Given the description of an element on the screen output the (x, y) to click on. 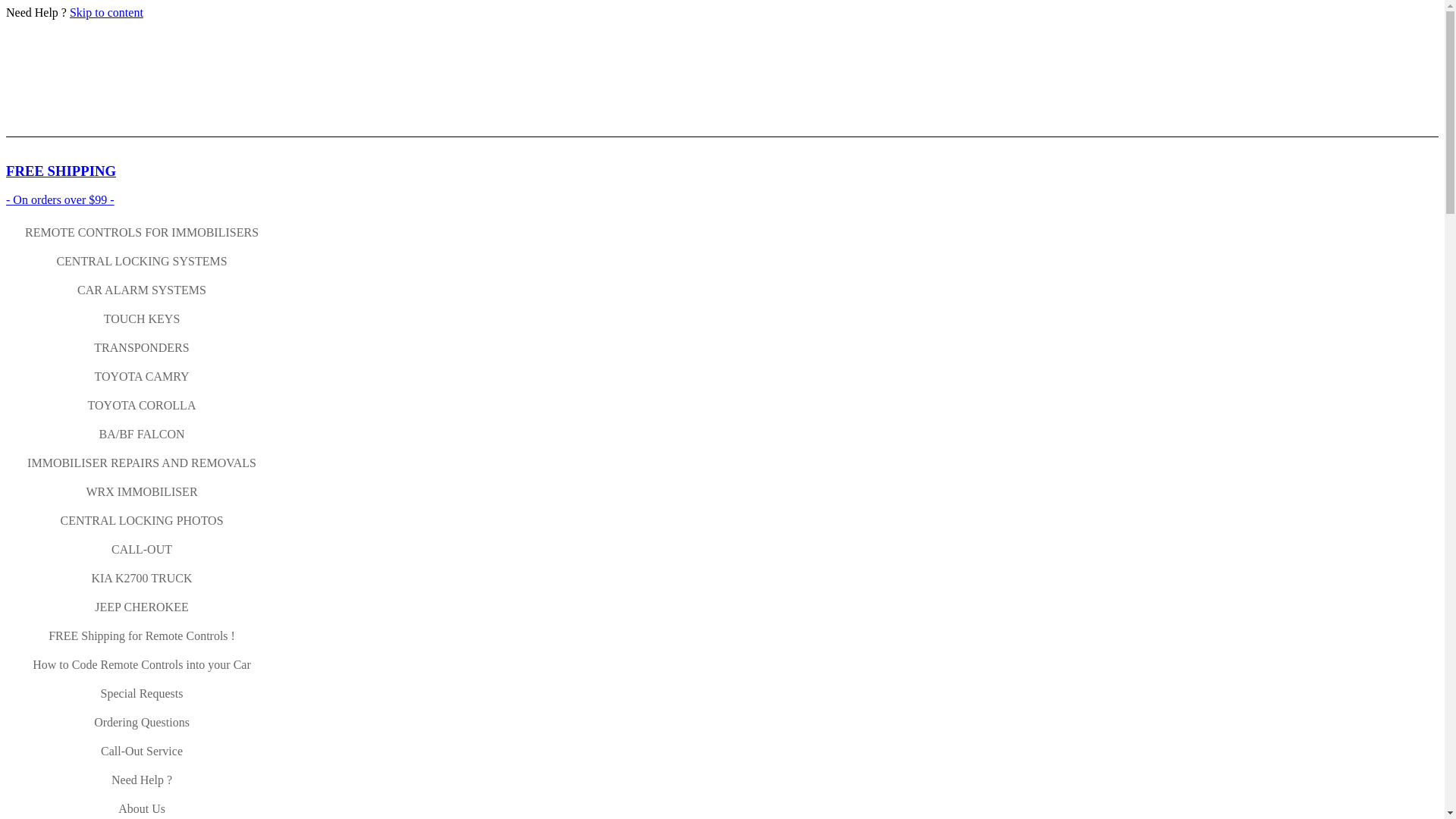
JEEP CHEROKEE Element type: text (141, 607)
TOUCH KEYS Element type: text (141, 318)
Call-Out Service Element type: text (141, 751)
TRANSPONDERS Element type: text (141, 347)
REMOTE CONTROLS FOR IMMOBILISERS Element type: text (141, 232)
BA/BF FALCON Element type: text (141, 434)
Special Requests Element type: text (141, 693)
FREE Shipping for Remote Controls ! Element type: text (141, 635)
How to Code Remote Controls into your Car Element type: text (141, 664)
Skip to content Element type: text (106, 12)
CALL-OUT Element type: text (141, 549)
Need Help ? Element type: text (141, 779)
CAR ALARM SYSTEMS Element type: text (141, 290)
TOYOTA COROLLA Element type: text (141, 405)
FREE SHIPPING
- On orders over $99 - Element type: text (722, 185)
CENTRAL LOCKING PHOTOS Element type: text (141, 520)
TOYOTA CAMRY Element type: text (141, 376)
KIA K2700 TRUCK Element type: text (141, 578)
CENTRAL LOCKING SYSTEMS Element type: text (141, 261)
IMMOBILISER REPAIRS AND REMOVALS Element type: text (141, 462)
Ordering Questions Element type: text (141, 722)
WRX IMMOBILISER Element type: text (141, 491)
